Given the description of an element on the screen output the (x, y) to click on. 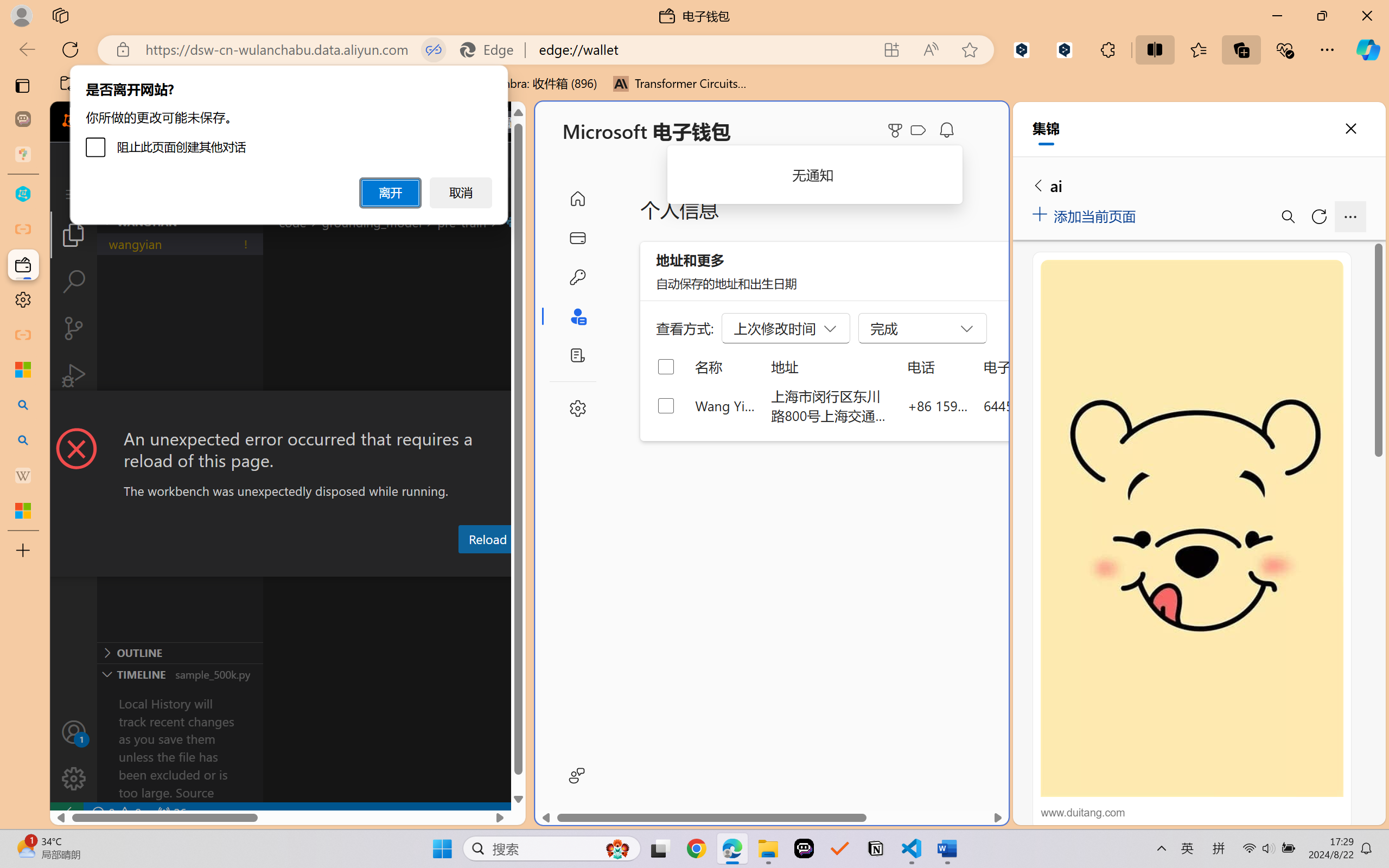
Terminal (Ctrl+`) (553, 565)
Debug Console (Ctrl+Shift+Y) (463, 565)
